Given the description of an element on the screen output the (x, y) to click on. 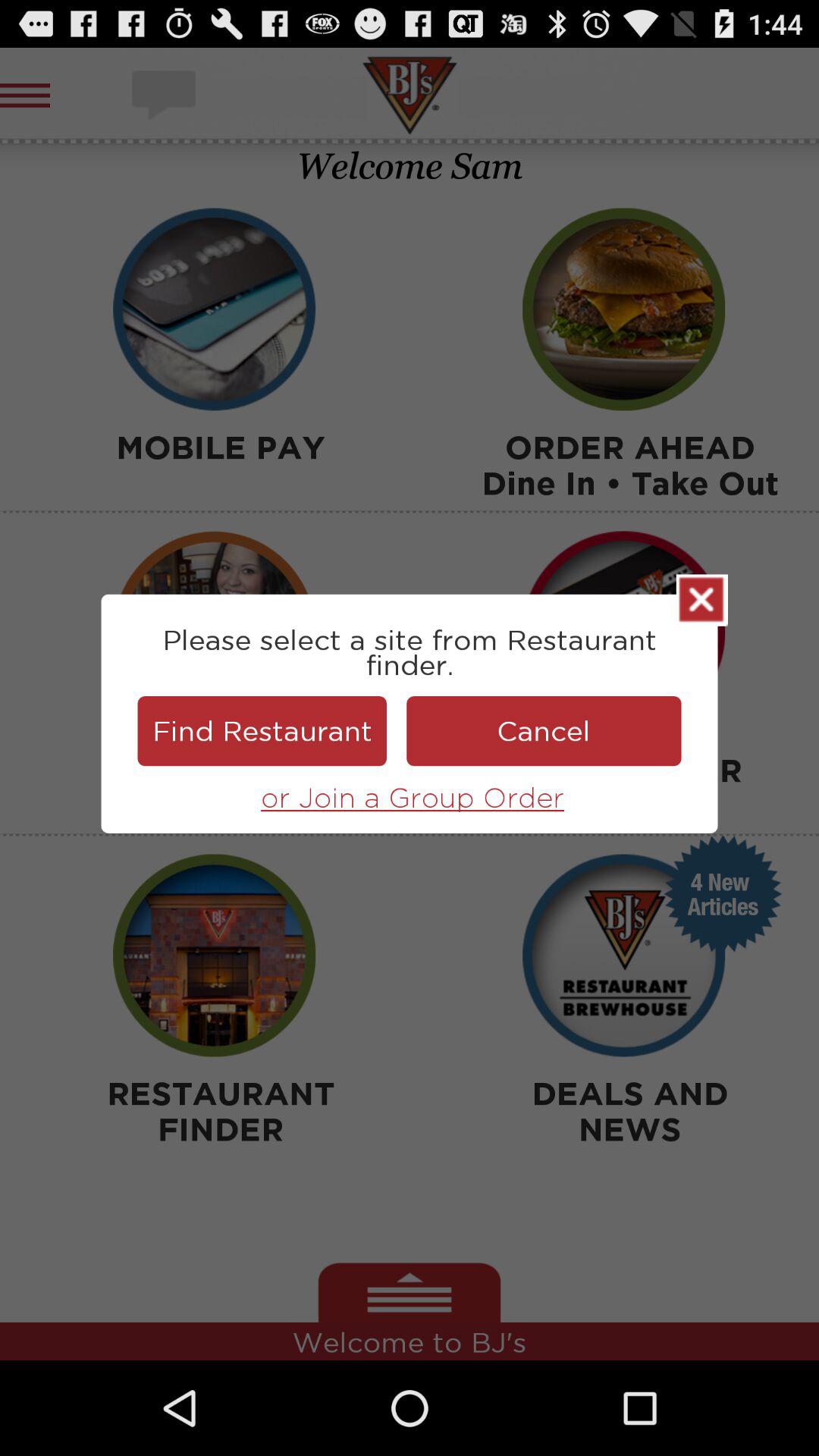
tela (702, 600)
